Given the description of an element on the screen output the (x, y) to click on. 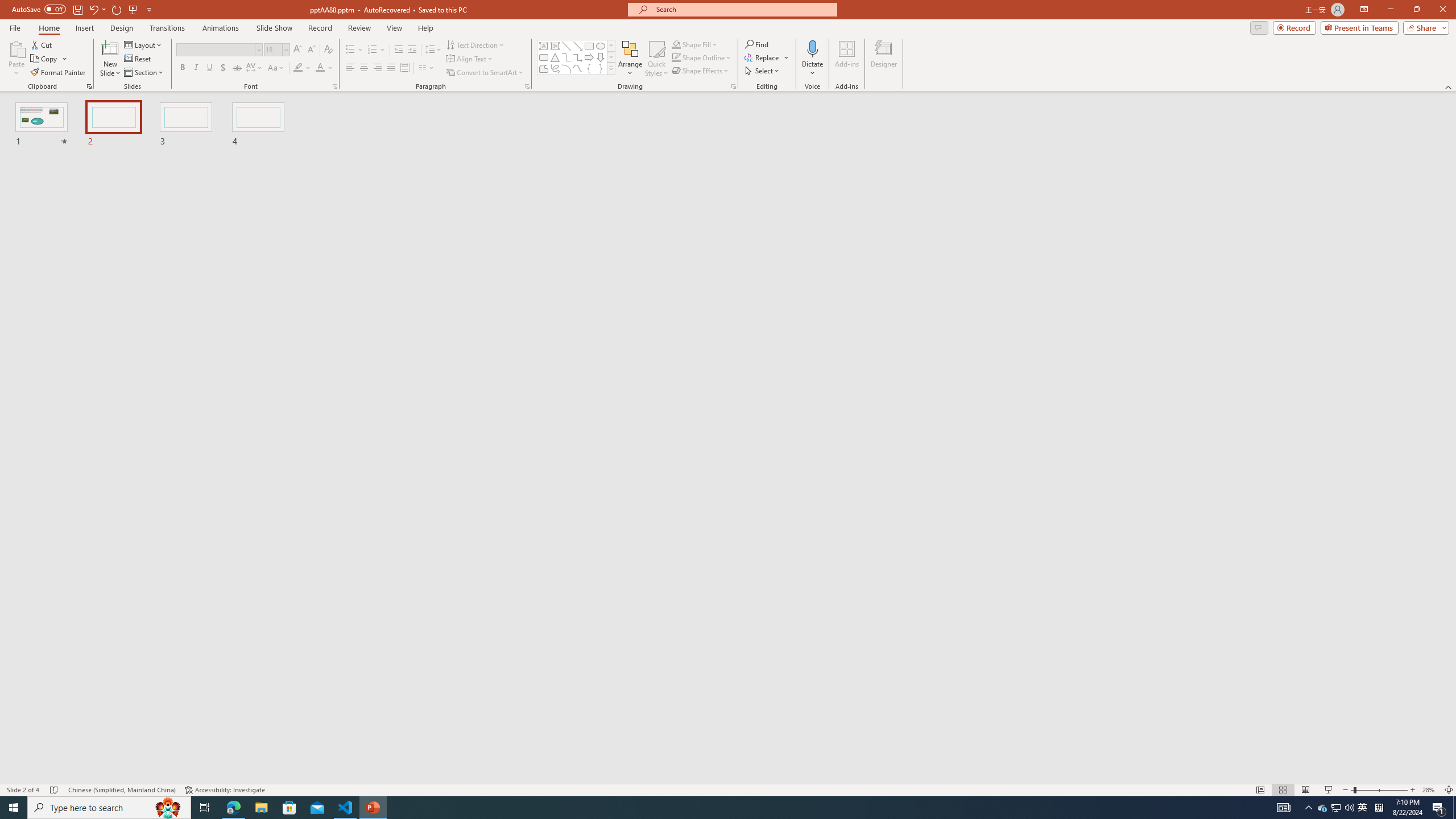
Shape Fill Aqua, Accent 2 (675, 44)
